Given the description of an element on the screen output the (x, y) to click on. 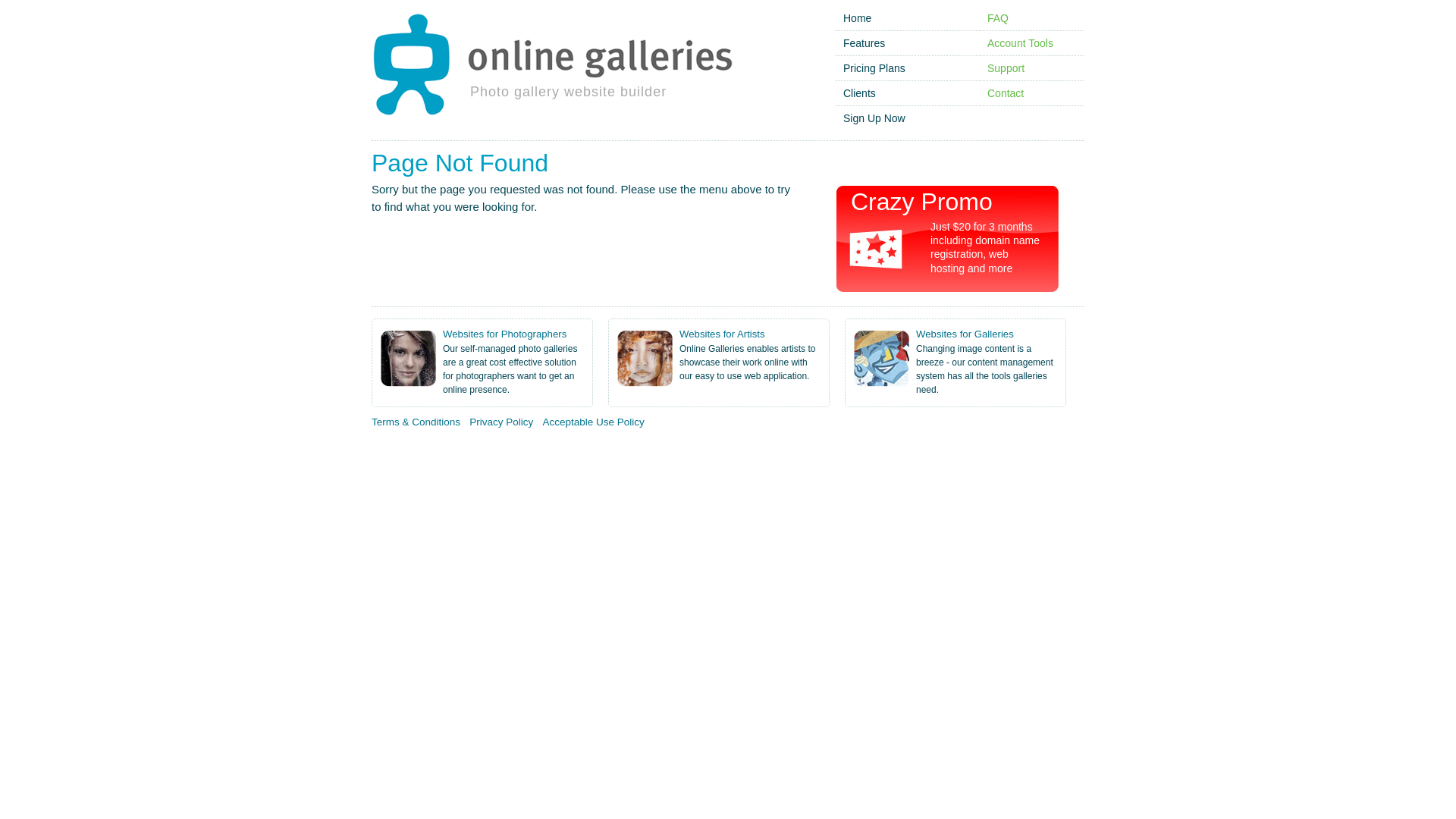
Online Portfolio Element type: text (523, 451)
Pricing Plans Element type: text (874, 68)
Sign Up Now Element type: text (874, 118)
Websites for Photographers Element type: text (504, 333)
Image Gallery Element type: text (603, 451)
Websites for Artists Element type: text (722, 333)
Acceptable Use Policy Element type: text (592, 421)
Features Element type: text (863, 43)
Online Photo Gallery Element type: text (71, 451)
Privacy Policy Element type: text (501, 421)
Support Element type: text (1005, 68)
Gallery Website Template Element type: text (708, 451)
Account Tools Element type: text (1020, 43)
Photography Websites Element type: text (421, 451)
Artist Gallery Website Element type: text (302, 451)
FAQ Element type: text (997, 18)
Websites for Galleries Element type: text (964, 333)
Terms & Conditions Element type: text (415, 421)
Home Element type: text (857, 18)
Contact Element type: text (1005, 93)
Clients Element type: text (859, 93)
Photo Gallery Website Element type: text (185, 451)
